Given the description of an element on the screen output the (x, y) to click on. 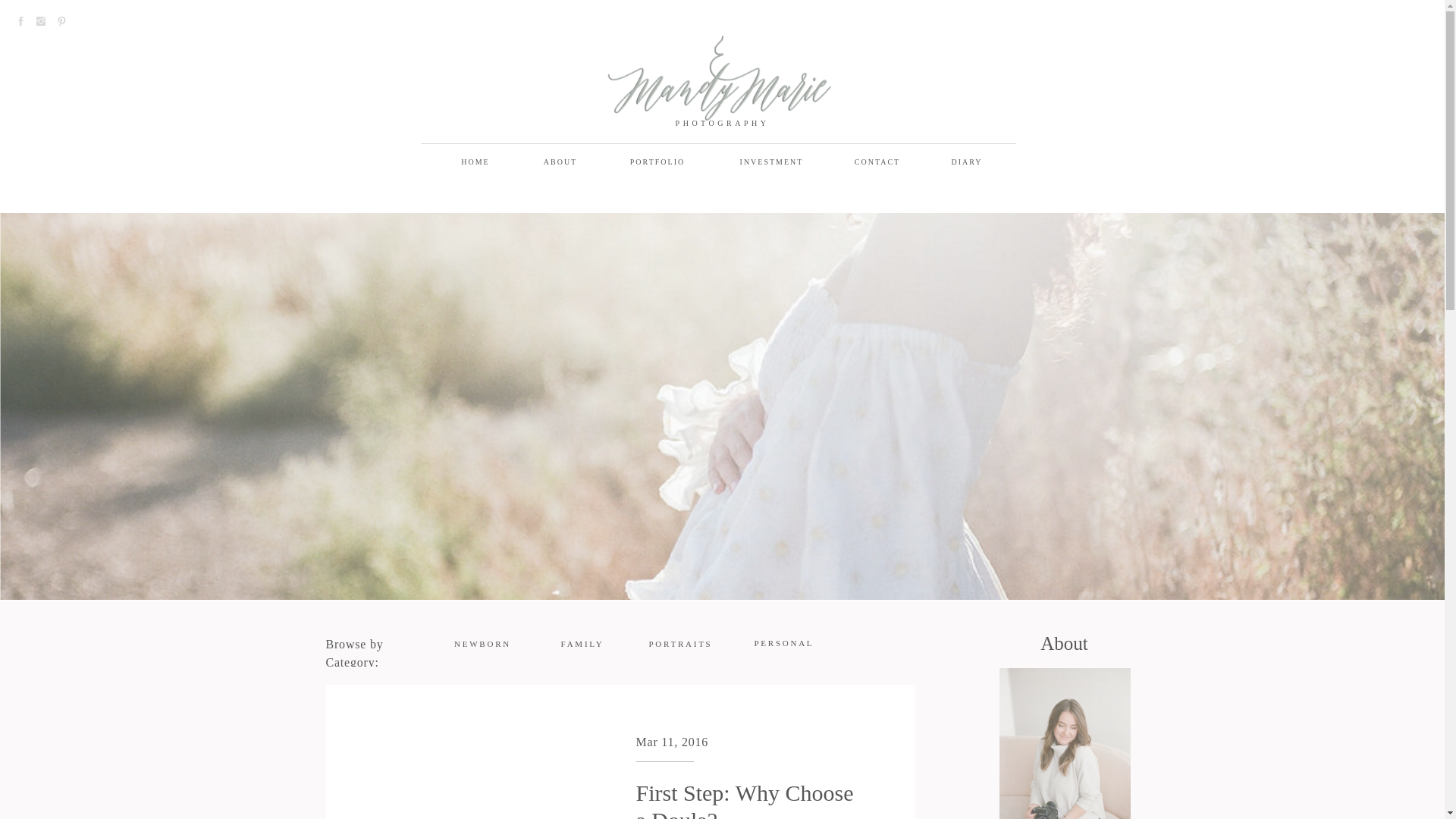
First Step: Why Choose a Doula? (743, 799)
PERSONAL (784, 644)
INVESTMENT (770, 161)
First Step: Why Choose a Doula? (475, 770)
NEWBORN (481, 645)
PORTRAITS (681, 645)
HOME (476, 162)
FAMILY (582, 645)
ABOUT (559, 162)
DIARY (967, 162)
